Given the description of an element on the screen output the (x, y) to click on. 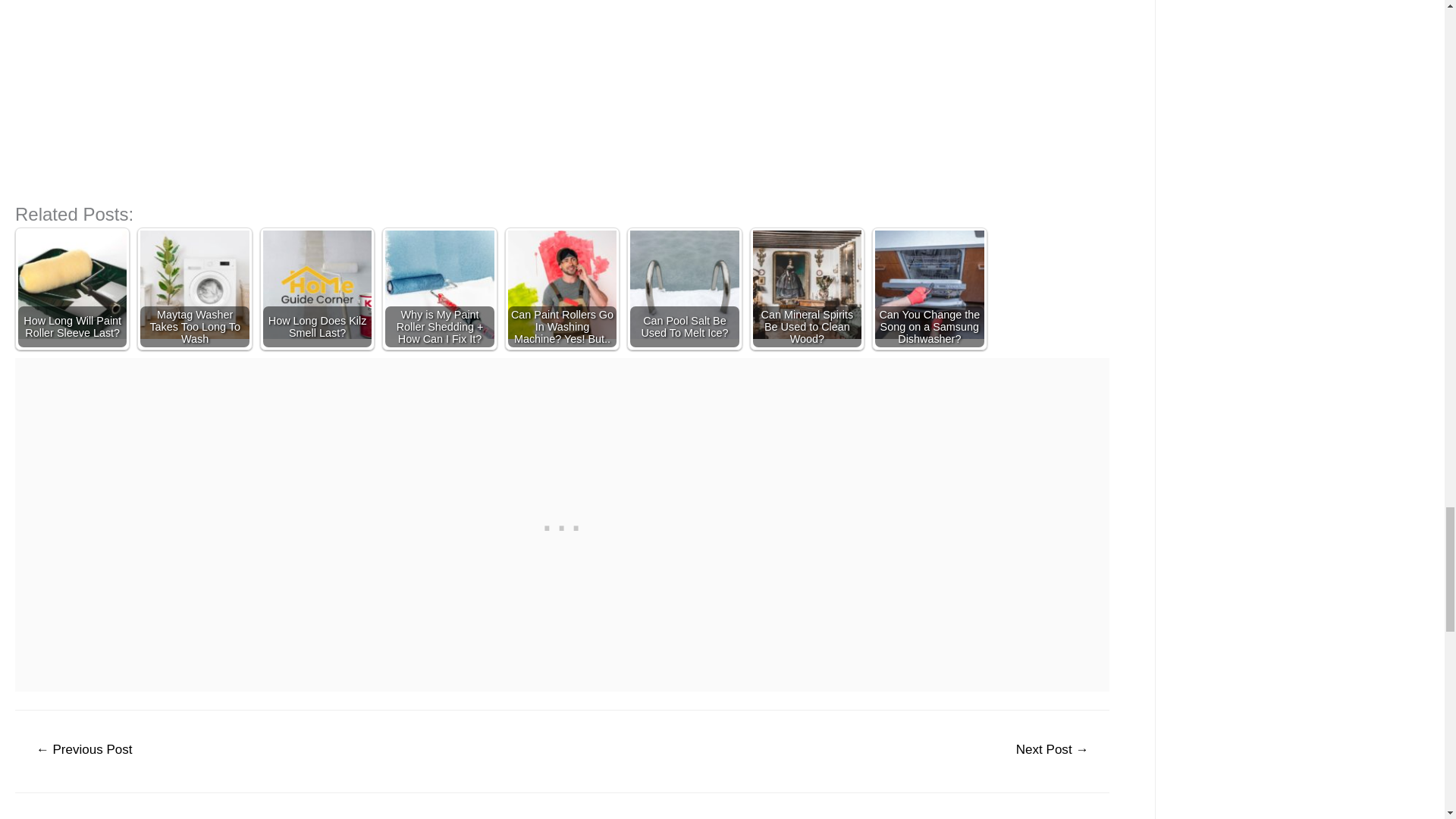
Maytag Washer Takes Too Long To Wash (193, 284)
Can Mineral Spirits Be Used to Clean Wood? (806, 284)
Can Pool Salt Be Used To Melt Ice? (684, 284)
Can Paint Rollers Go In Washing Machine? Yes! But.. (561, 284)
How Long Does Kilz Smell Last? (317, 284)
Can You Change the Song on a Samsung Dishwasher? (929, 284)
How Long Will Paint Roller Sleeve Last? (71, 284)
